Given the description of an element on the screen output the (x, y) to click on. 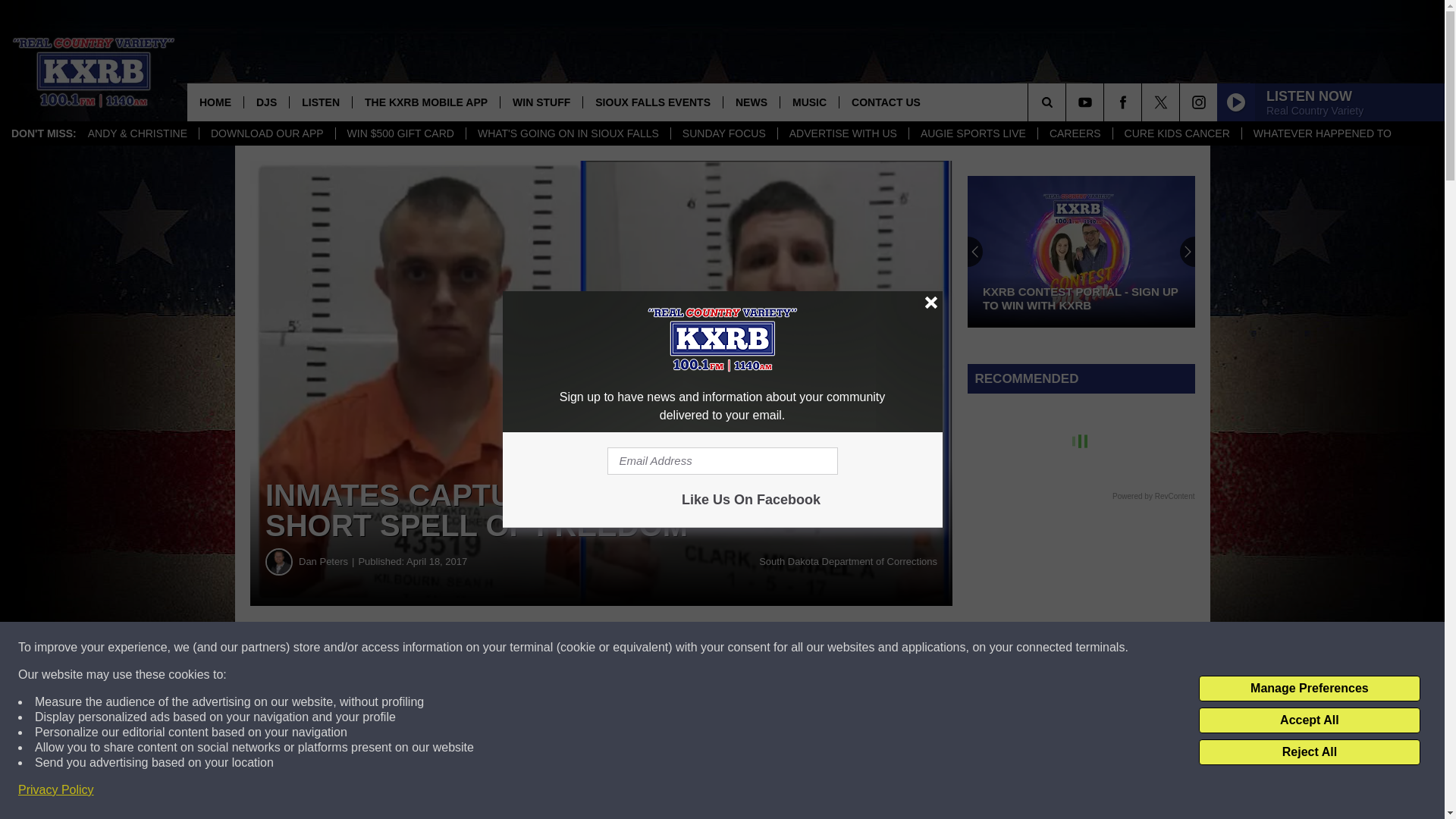
Manage Preferences (1309, 688)
Share on Twitter (741, 647)
Privacy Policy (55, 789)
LISTEN (320, 102)
Reject All (1309, 751)
SEARCH (1068, 102)
HOME (215, 102)
CAREERS (1074, 133)
Accept All (1309, 720)
SEARCH (1068, 102)
SUNDAY FOCUS (723, 133)
Email Address (722, 461)
THE KXRB MOBILE APP (425, 102)
AUGIE SPORTS LIVE (972, 133)
WHAT'S GOING ON IN SIOUX FALLS (567, 133)
